Given the description of an element on the screen output the (x, y) to click on. 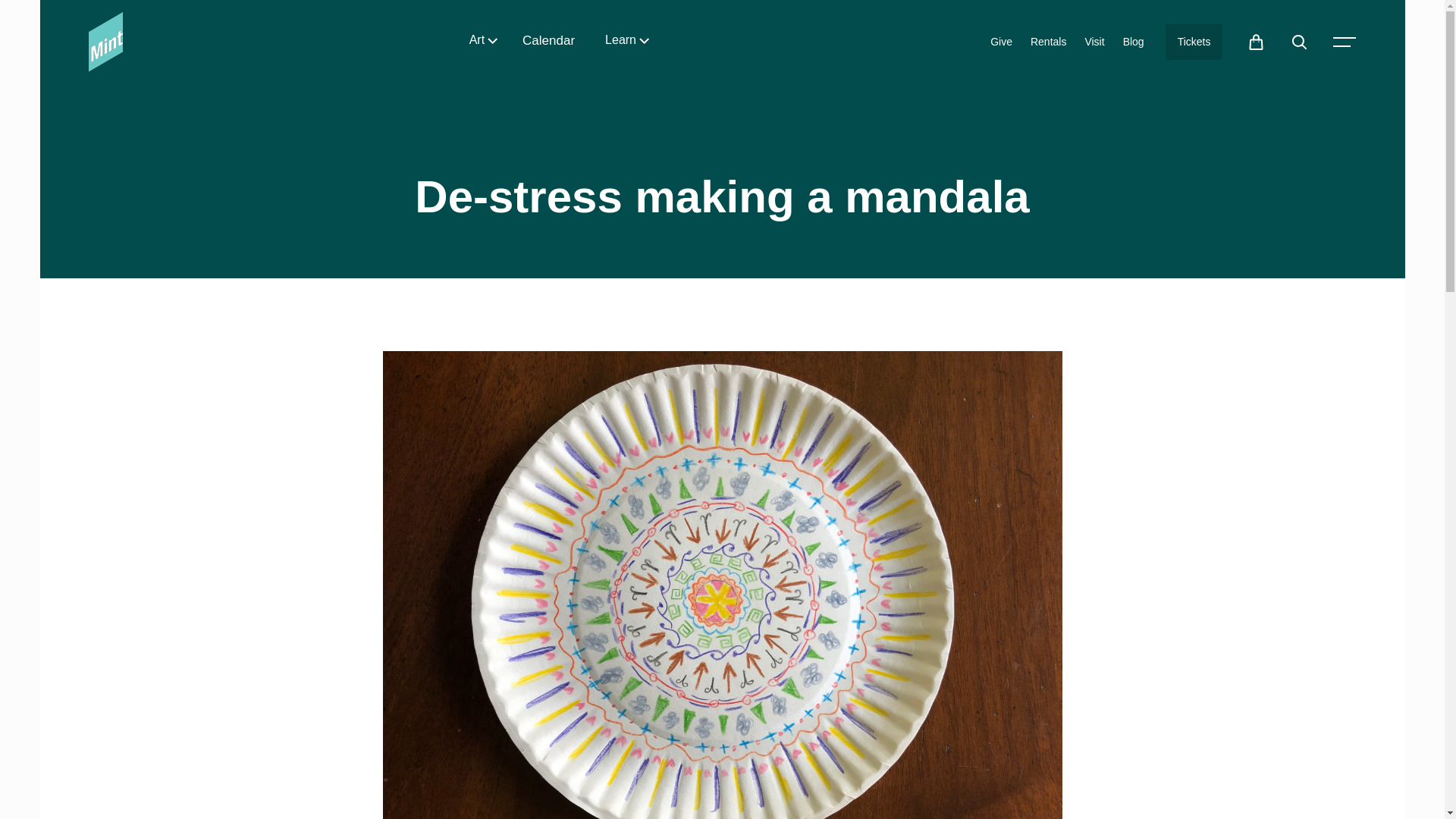
Tickets (1194, 41)
Give (1000, 41)
Blog (1133, 41)
Visit (1093, 41)
Rentals (1047, 41)
